Given the description of an element on the screen output the (x, y) to click on. 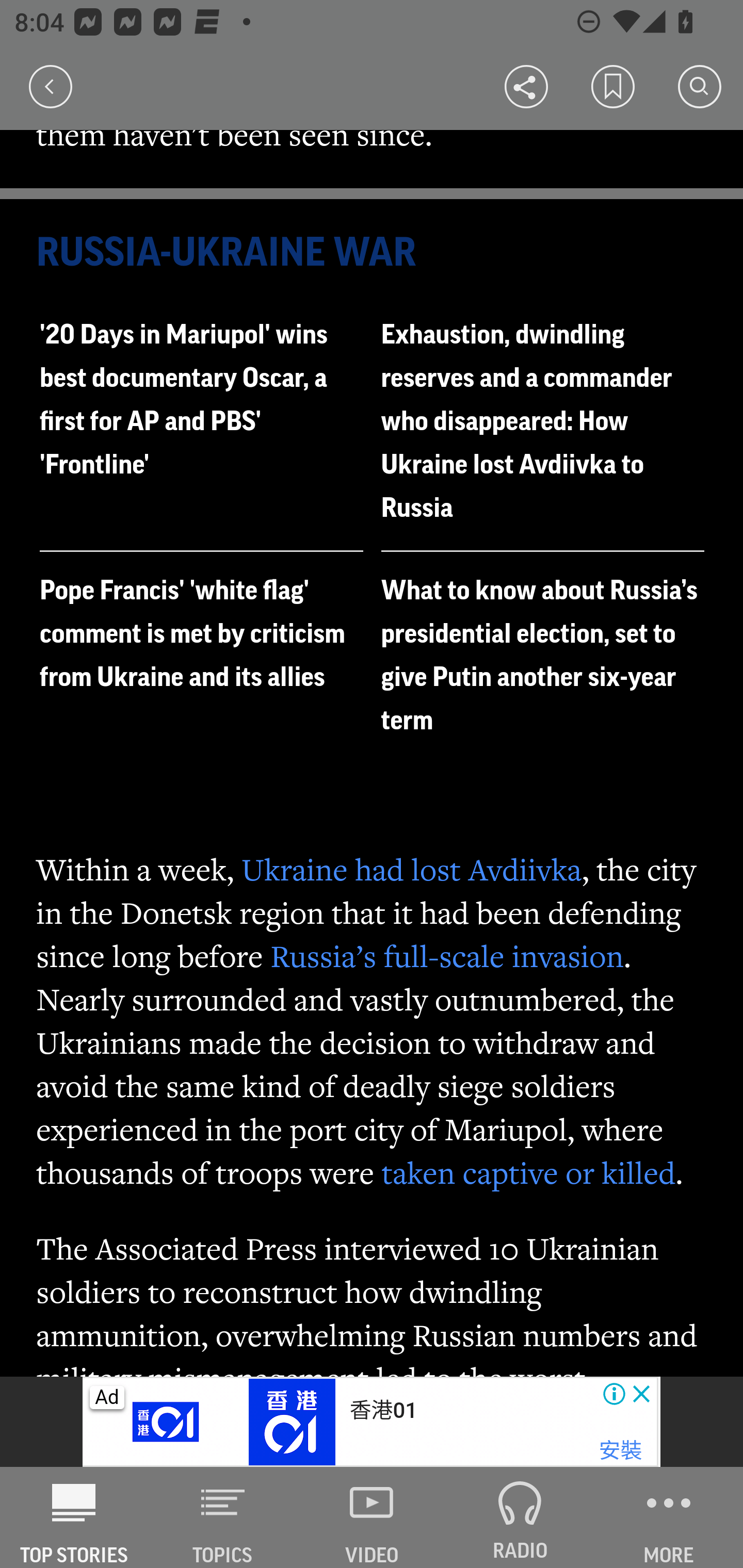
RUSSIA-UKRAINE WAR (372, 253)
Ukraine had lost Avdiivka (411, 867)
Russia’s full-scale invasion (446, 954)
taken captive or killed (528, 1172)
B30001746 (168, 1421)
香港01 (382, 1410)
安裝 (620, 1450)
AP News TOP STORIES (74, 1517)
TOPICS (222, 1517)
VIDEO (371, 1517)
RADIO (519, 1517)
MORE (668, 1517)
